Given the description of an element on the screen output the (x, y) to click on. 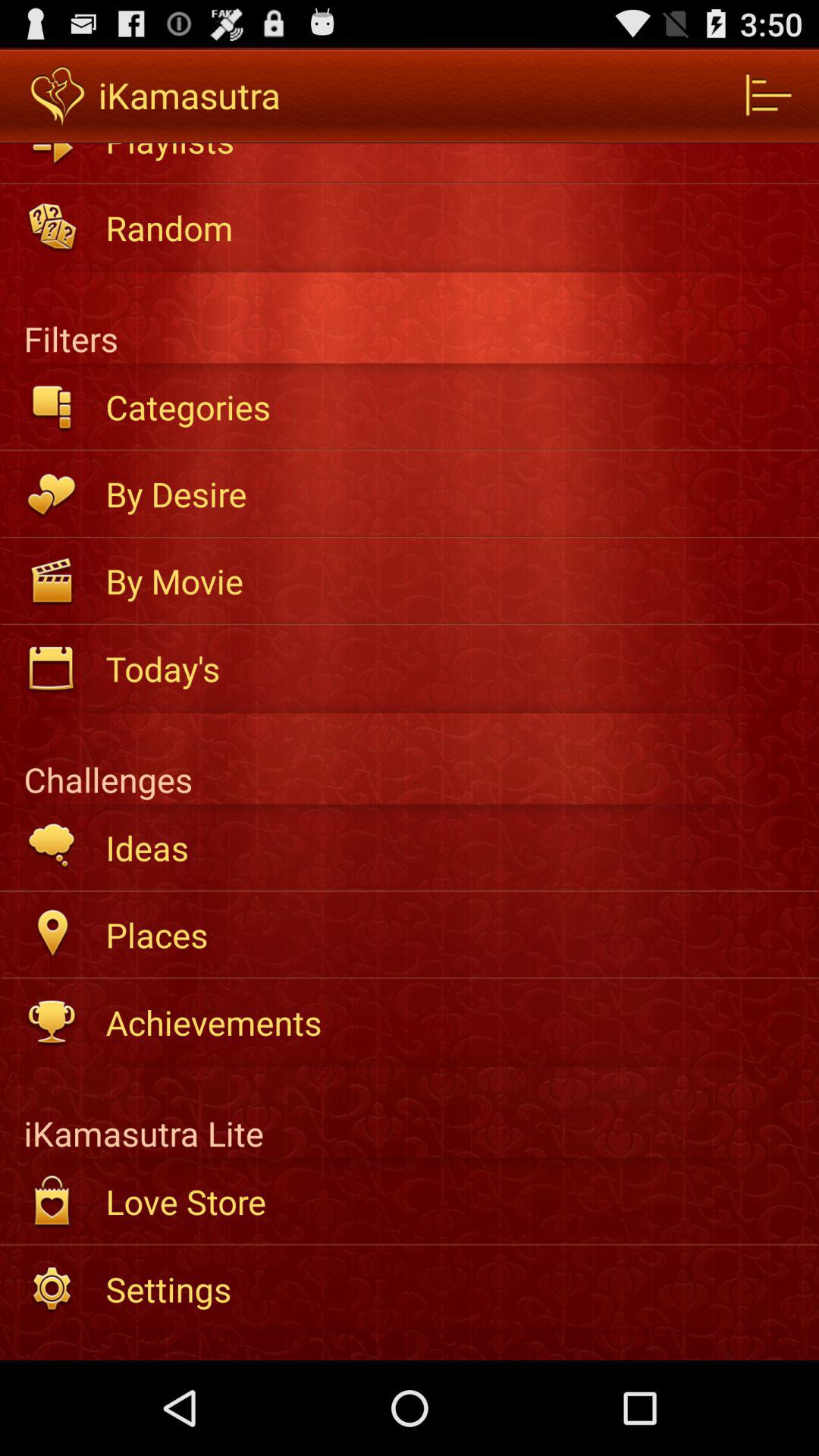
swipe until the today's item (452, 668)
